Given the description of an element on the screen output the (x, y) to click on. 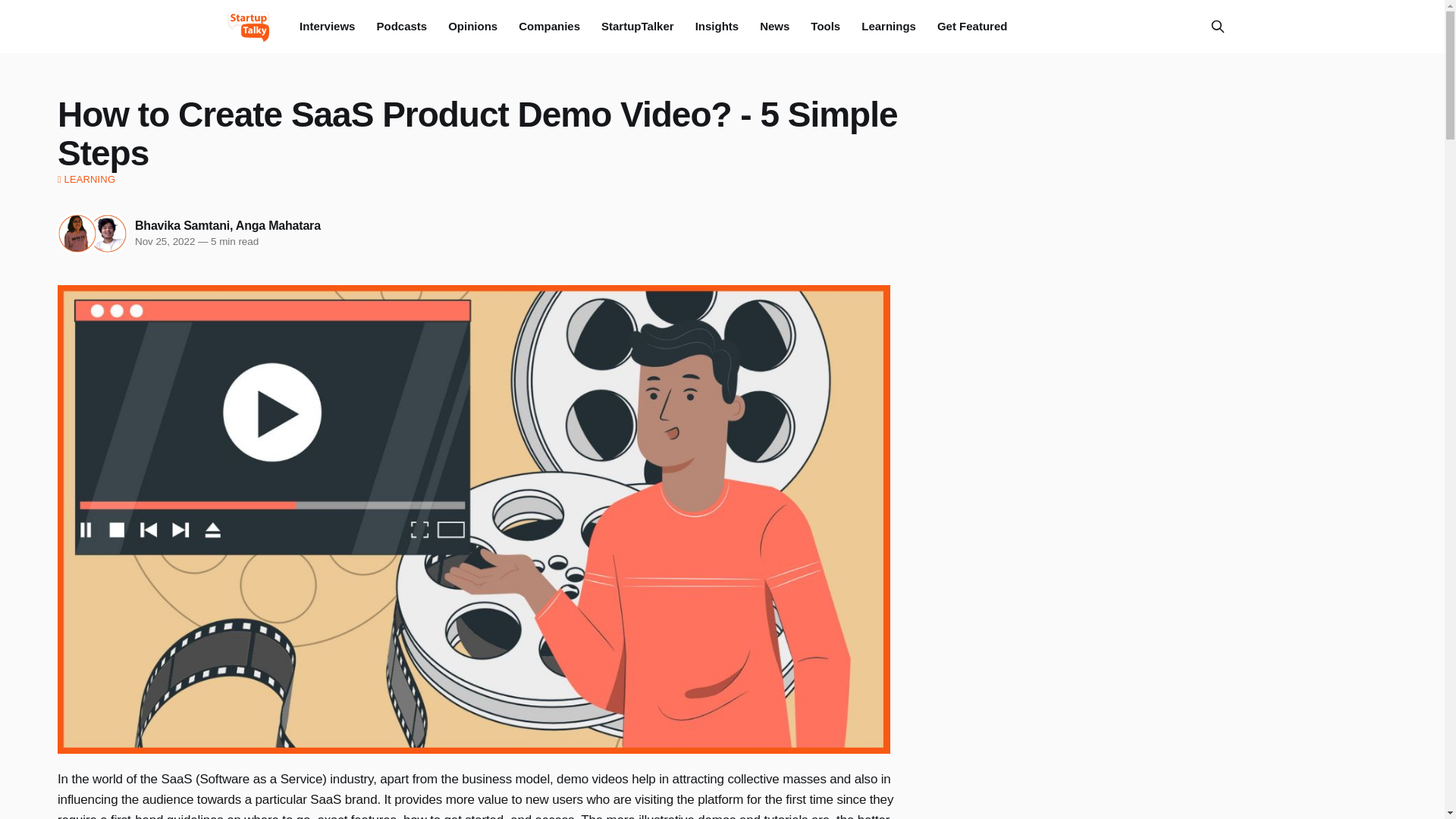
Insights (717, 25)
Opinions (472, 25)
Podcasts (400, 25)
Get Featured (972, 25)
Anga Mahatara (277, 225)
Learnings (888, 25)
StartupTalker (637, 25)
Companies (548, 25)
Bhavika Samtani (182, 225)
Tools (825, 25)
